Given the description of an element on the screen output the (x, y) to click on. 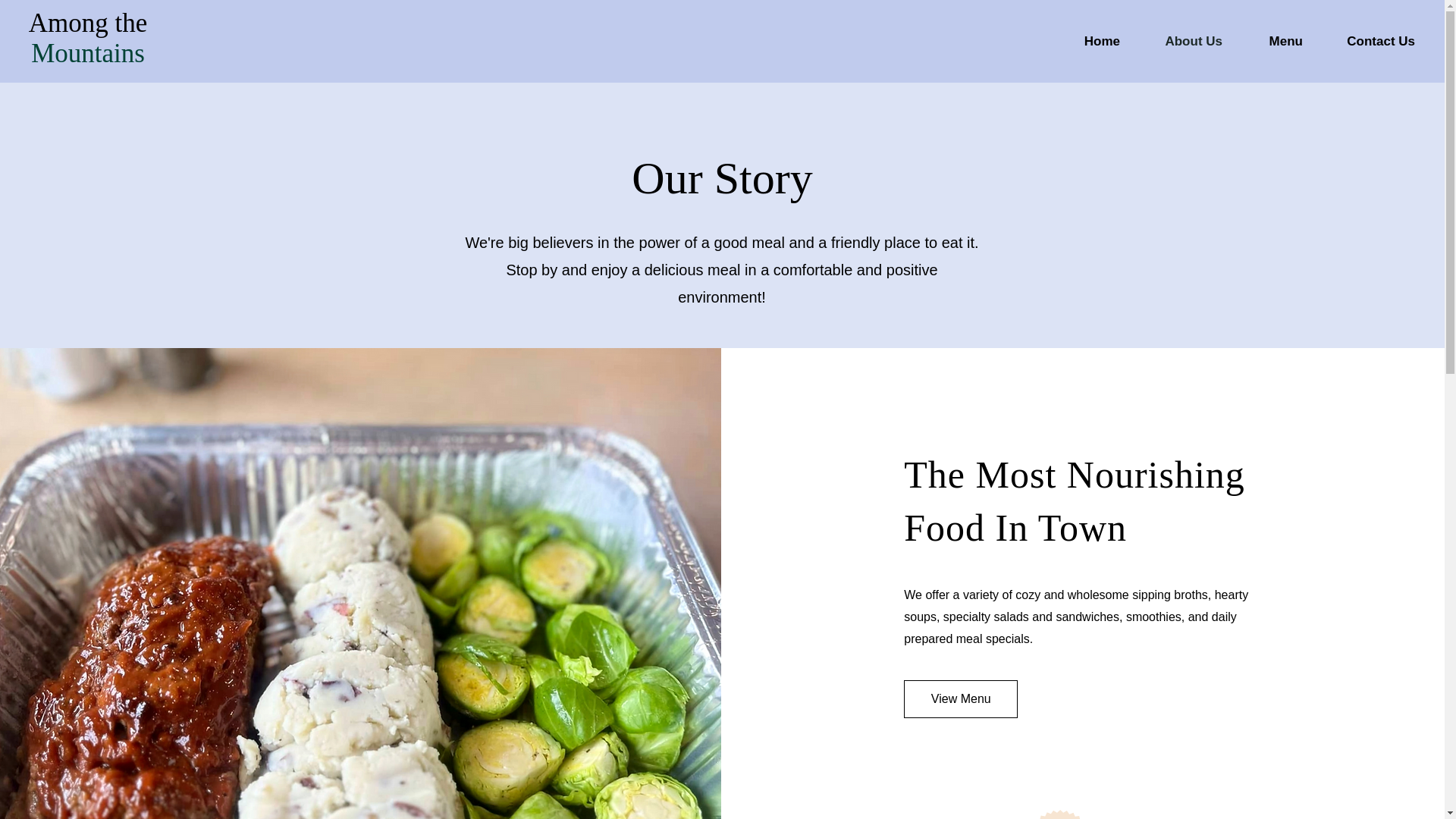
About Us (1182, 41)
Home (1088, 41)
Menu (1273, 41)
Contact Us (1370, 41)
View Menu (960, 699)
